Given the description of an element on the screen output the (x, y) to click on. 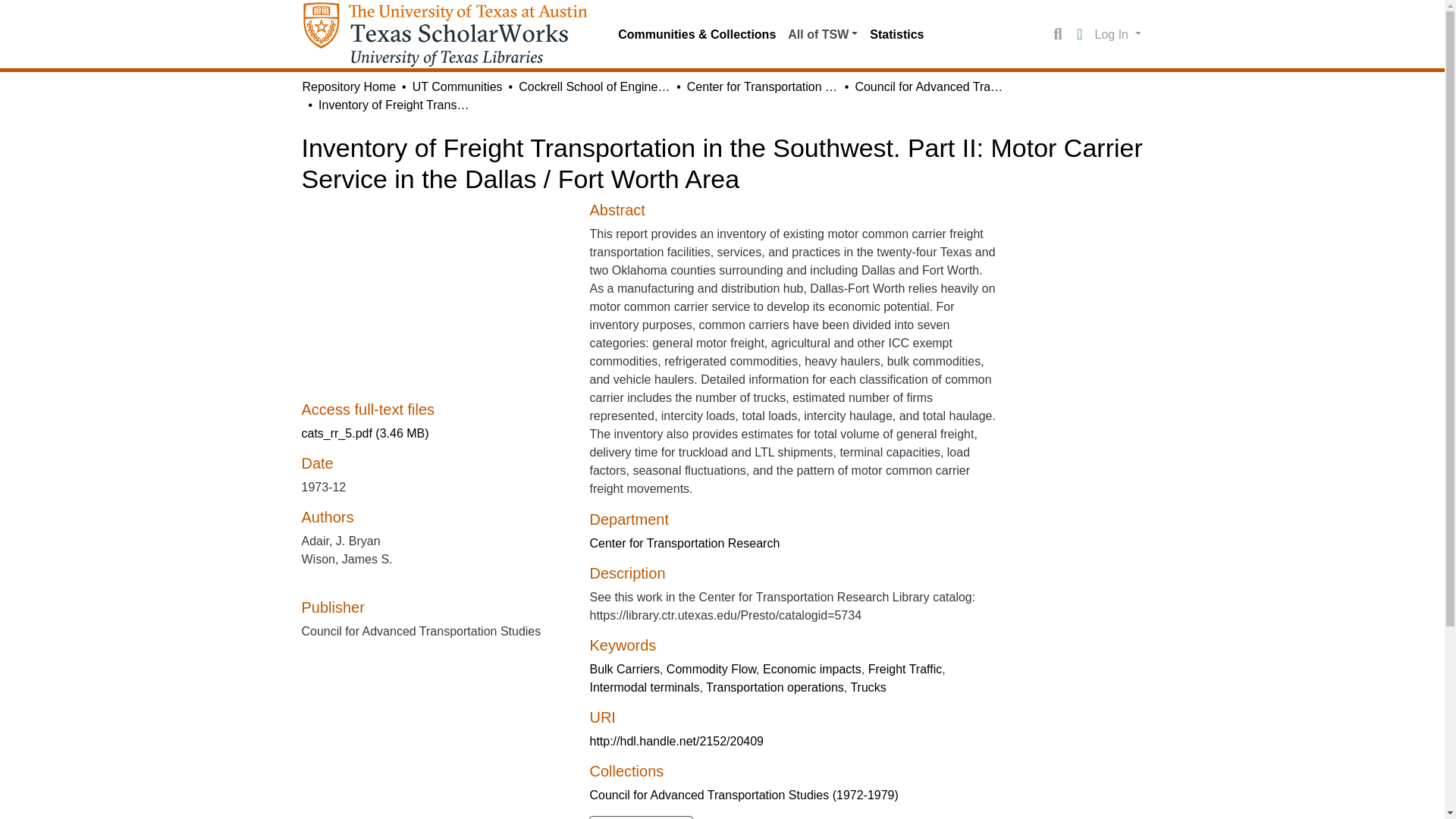
Transportation operations (775, 686)
Economic impacts (811, 668)
UT Communities (457, 86)
Freight Traffic (904, 668)
Trucks (867, 686)
Commodity Flow (710, 668)
Center for Transportation Research (683, 543)
Log In (1117, 33)
All of TSW (822, 34)
Repository Home (348, 86)
Full item page (641, 817)
Intermodal terminals (643, 686)
Statistics (896, 34)
Language switch (1079, 34)
Center for Transportation Research (762, 86)
